Given the description of an element on the screen output the (x, y) to click on. 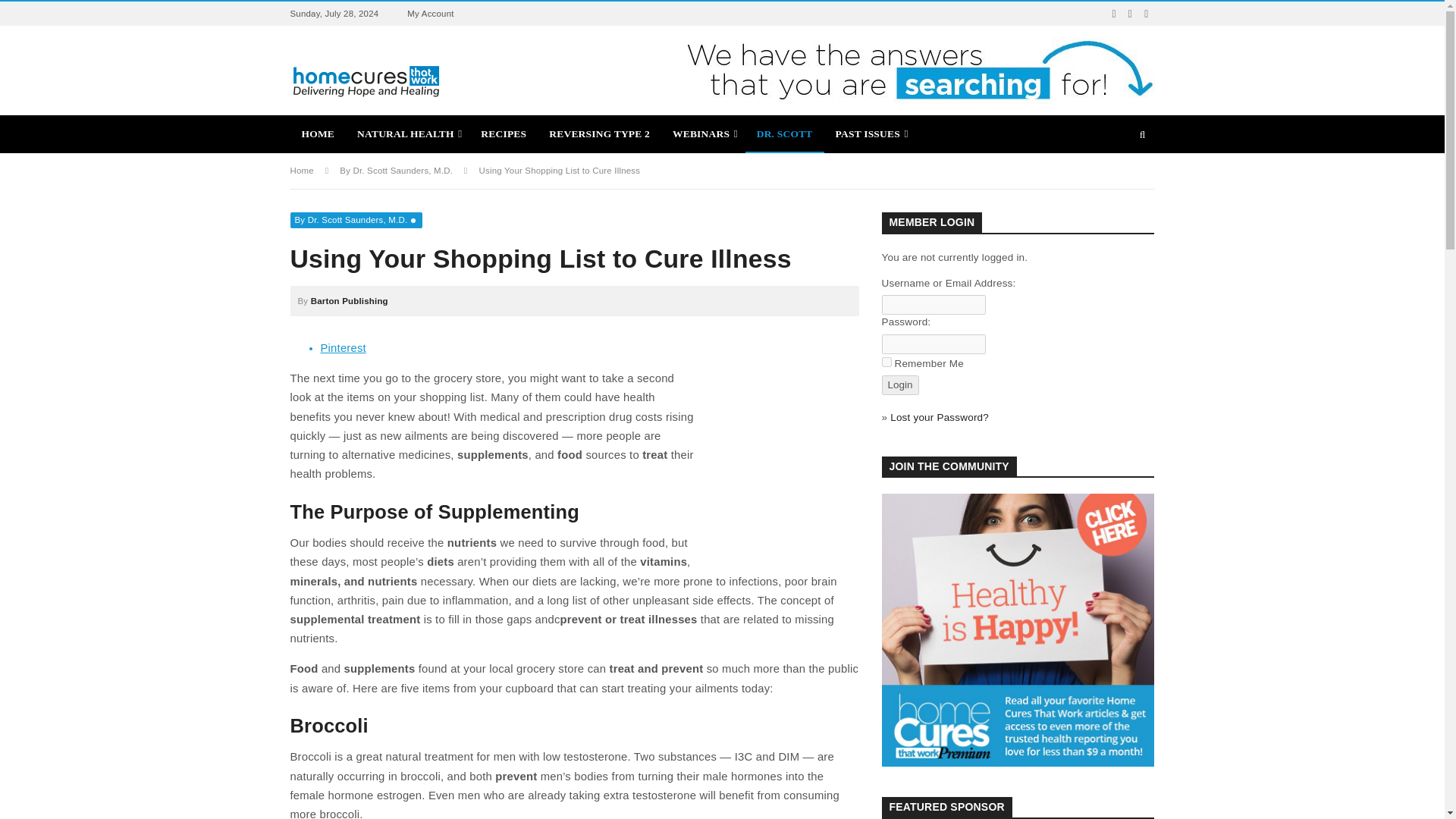
forever (885, 361)
NATURAL HEALTH (407, 134)
HOME (317, 134)
My Account (430, 13)
Login (899, 384)
Home Cures That Work (365, 80)
